Given the description of an element on the screen output the (x, y) to click on. 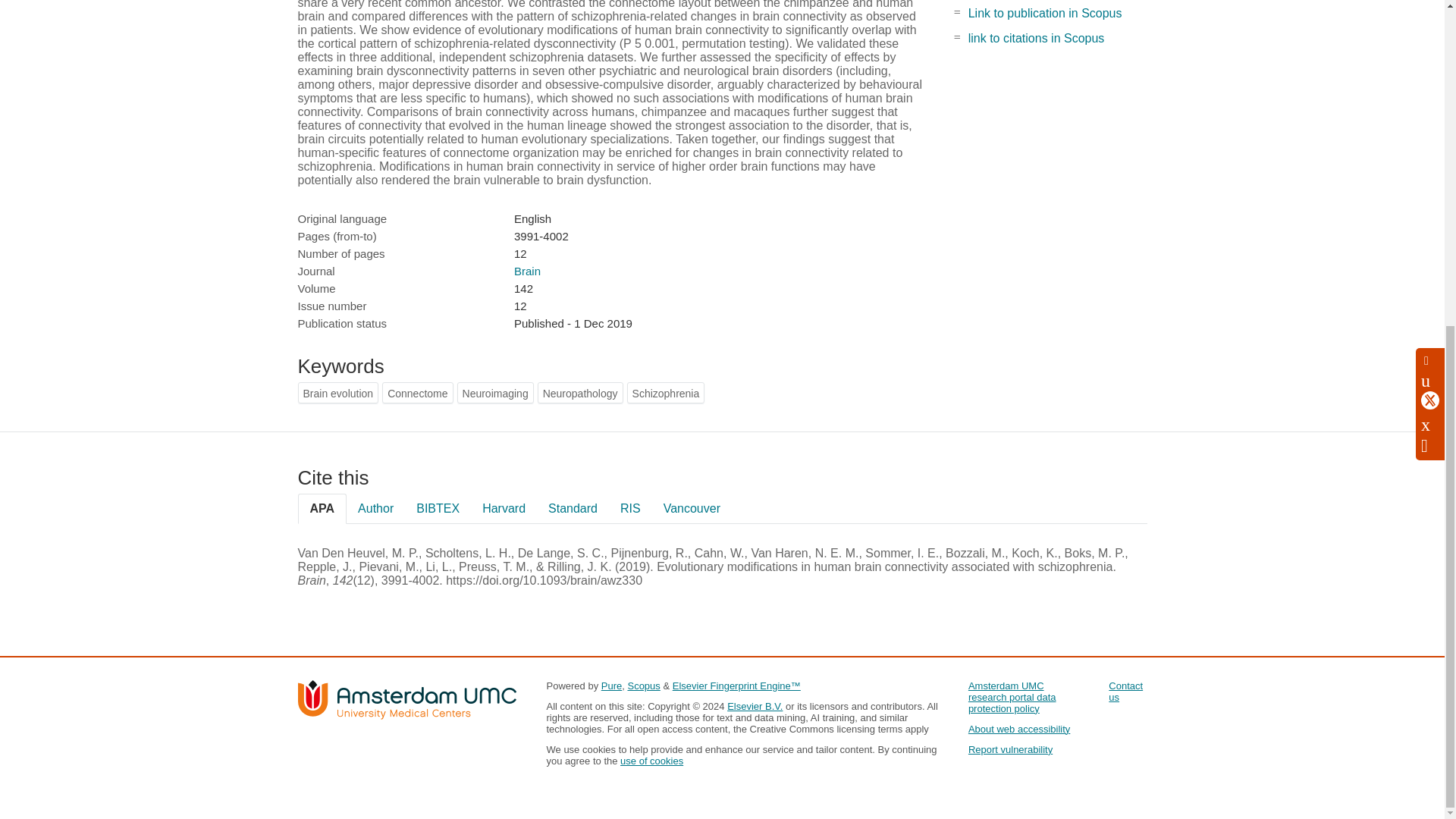
link to citations in Scopus (1036, 38)
Link to publication in Scopus (1045, 12)
About web accessibility (1019, 728)
Contact us (1125, 691)
Scopus (643, 685)
use of cookies (651, 760)
Report vulnerability (1010, 749)
Brain (526, 270)
Elsevier B.V. (754, 706)
Pure (611, 685)
